Given the description of an element on the screen output the (x, y) to click on. 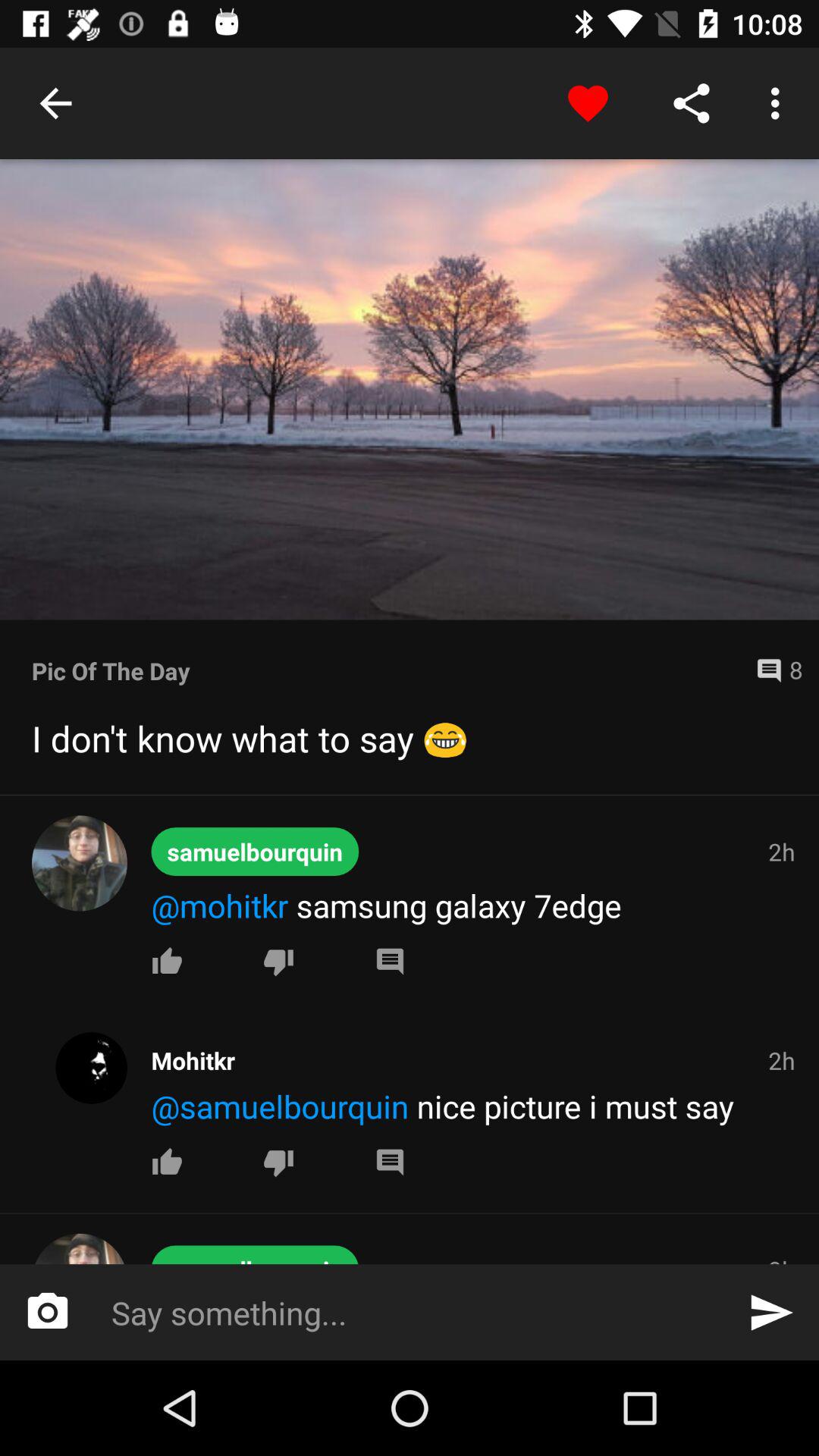
press item below i don t item (409, 794)
